Given the description of an element on the screen output the (x, y) to click on. 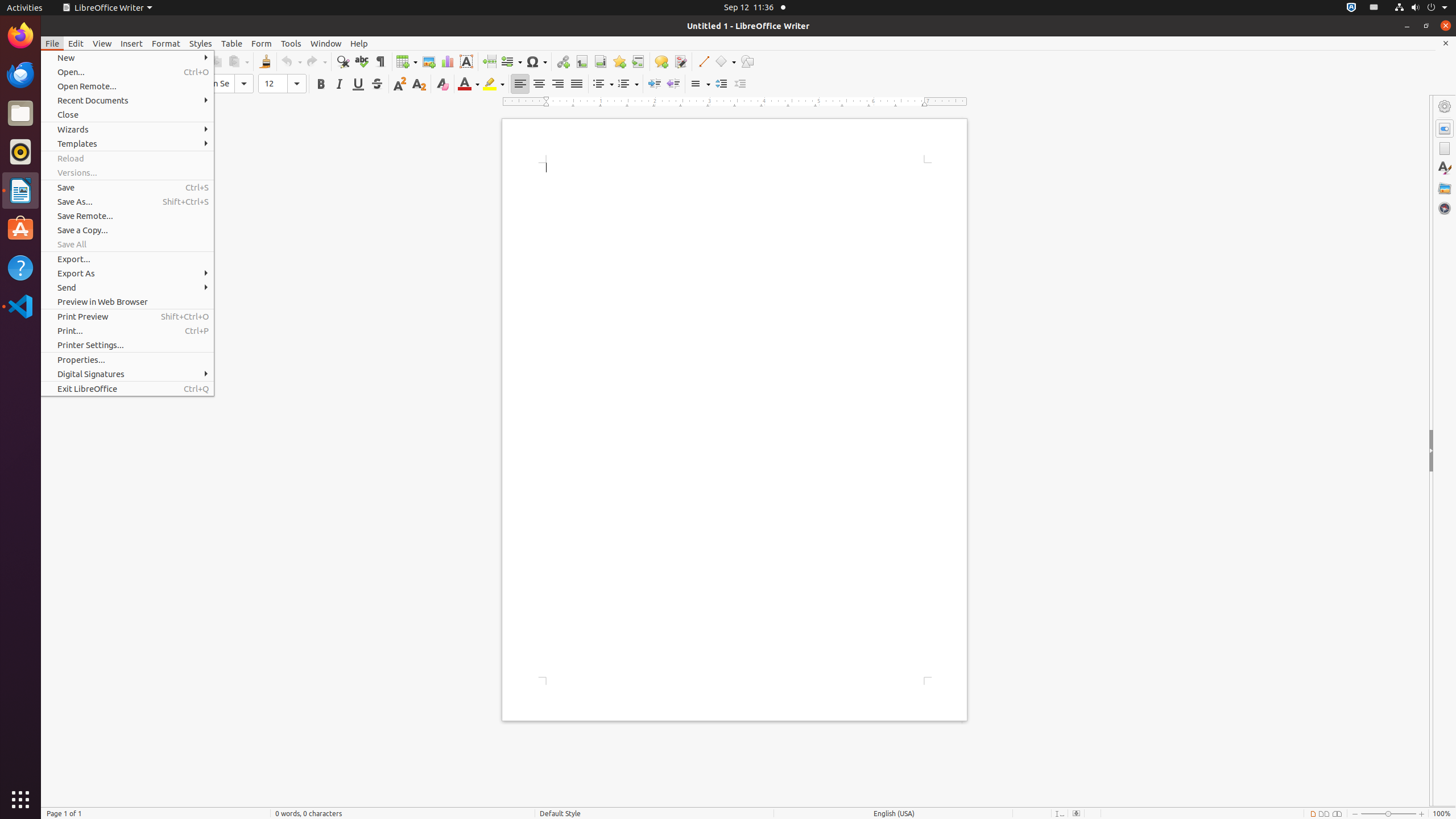
Image Element type: push-button (428, 61)
Right Element type: toggle-button (557, 83)
:1.72/StatusNotifierItem Element type: menu (1350, 7)
Comment Element type: push-button (660, 61)
Print... Element type: menu-item (126, 330)
